Given the description of an element on the screen output the (x, y) to click on. 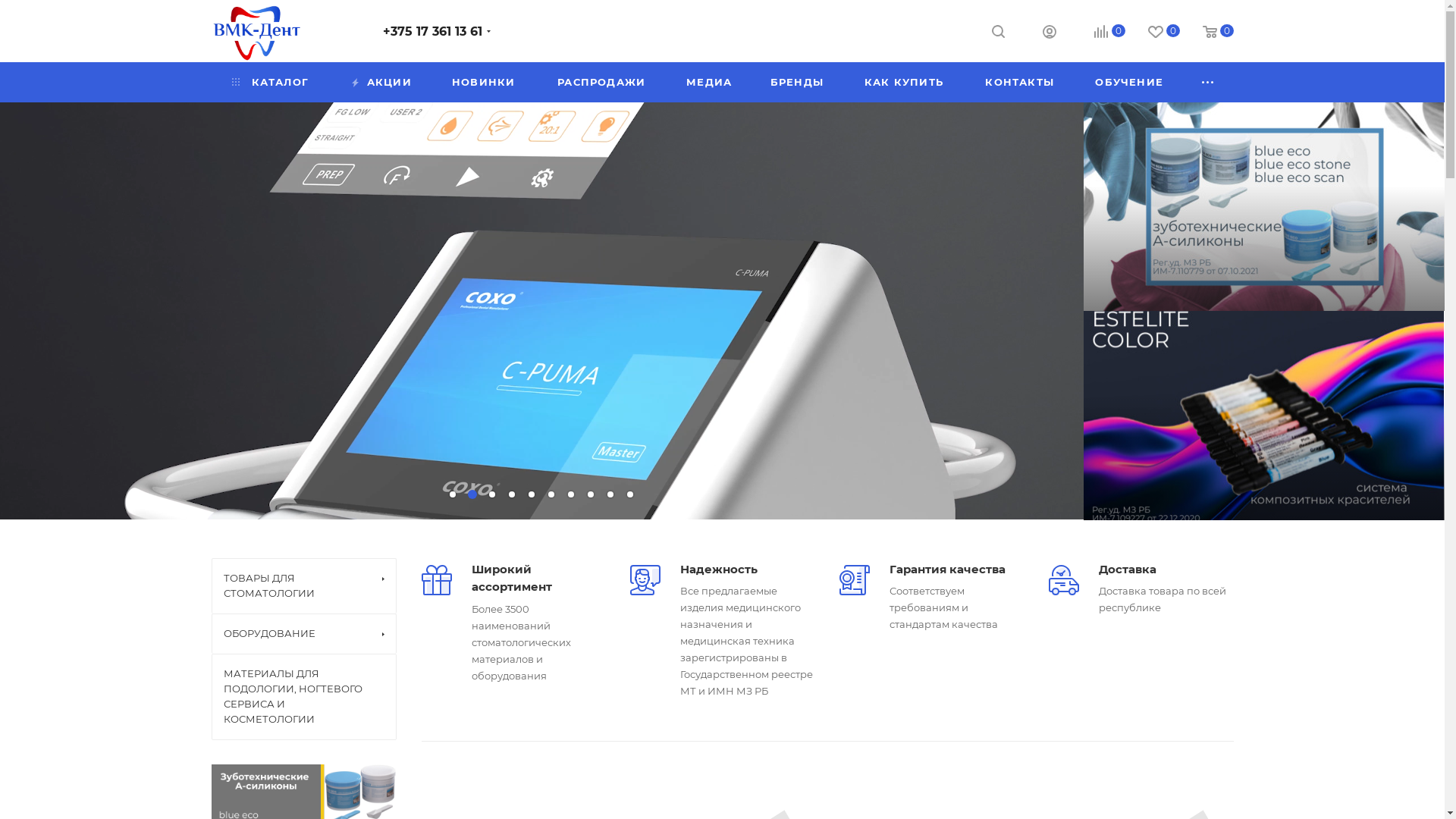
0 Element type: text (1152, 31)
shop.vmk-dent.by Element type: hover (255, 31)
+375 17 361 13 61 Element type: text (432, 31)
0 Element type: text (1097, 31)
0 Element type: text (1206, 31)
